Given the description of an element on the screen output the (x, y) to click on. 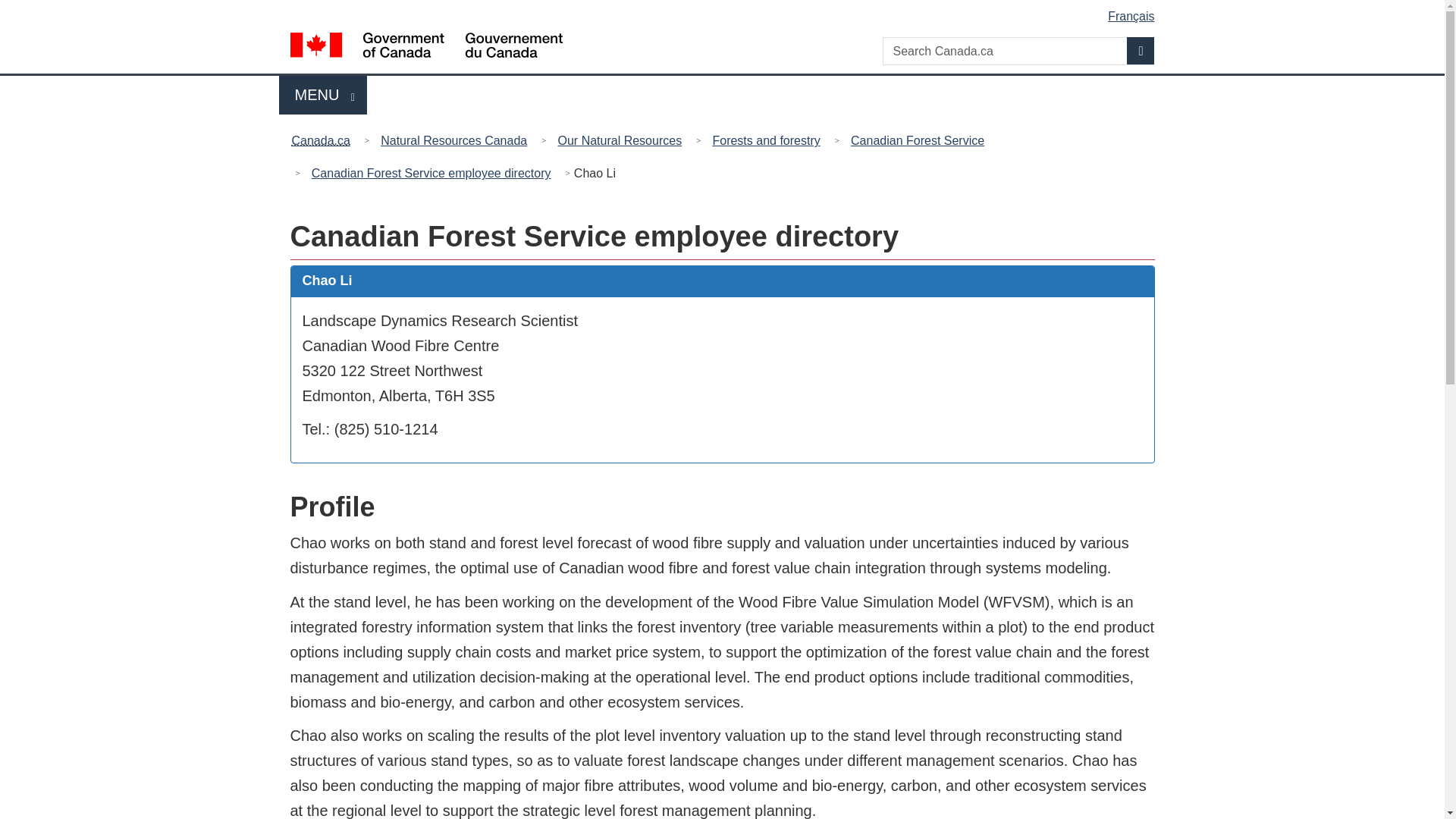
Canada.ca (323, 140)
Natural Resources Canada (453, 140)
Search (1140, 50)
Canadian Forest Service (917, 140)
Forests and forestry (765, 140)
Canadian Forest Service employee directory (322, 95)
Skip to main content (431, 172)
Our Natural Resources (725, 11)
Canada.ca (620, 140)
